Given the description of an element on the screen output the (x, y) to click on. 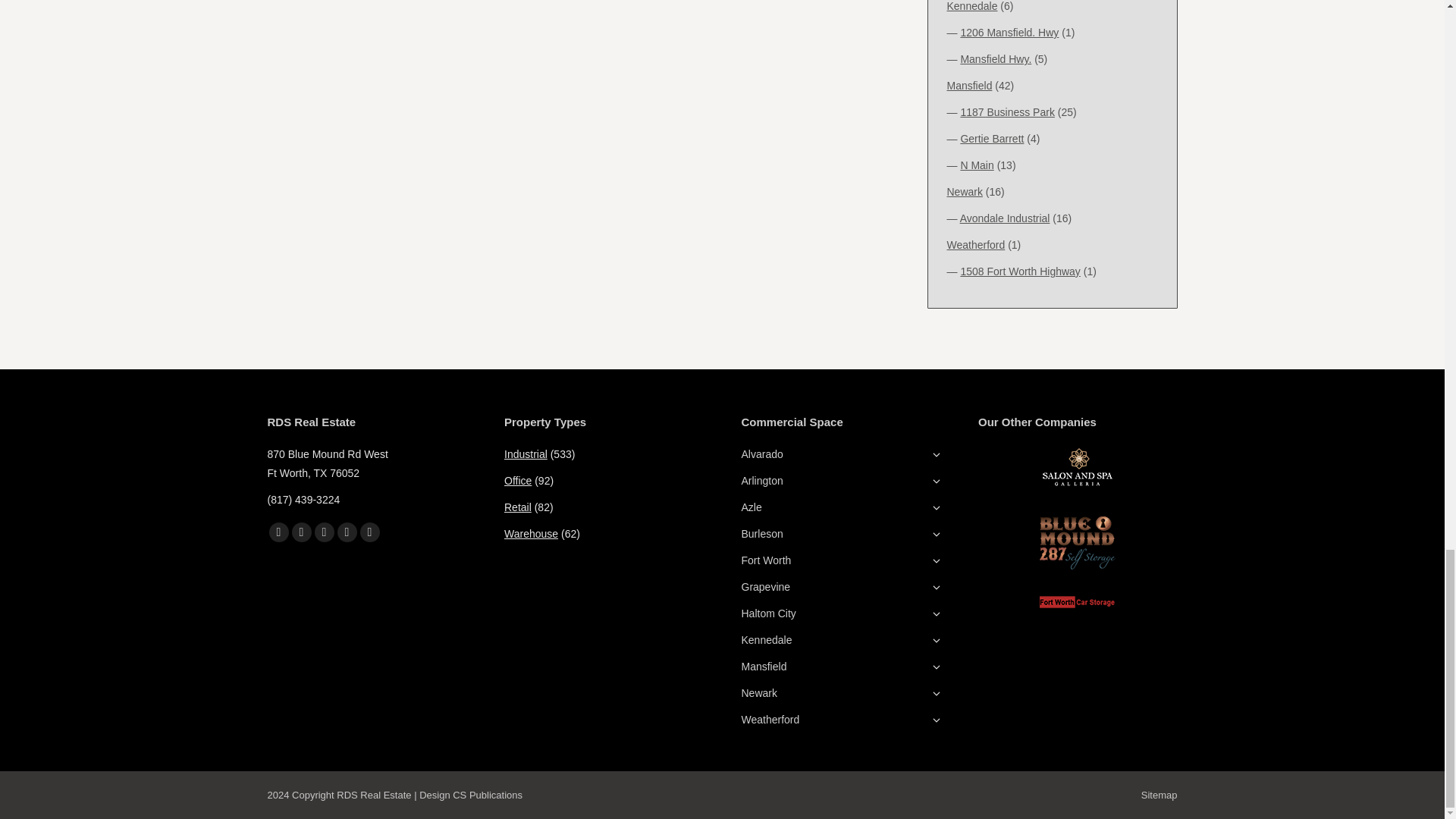
Facebook page opens in new window (277, 532)
X page opens in new window (301, 532)
